Given the description of an element on the screen output the (x, y) to click on. 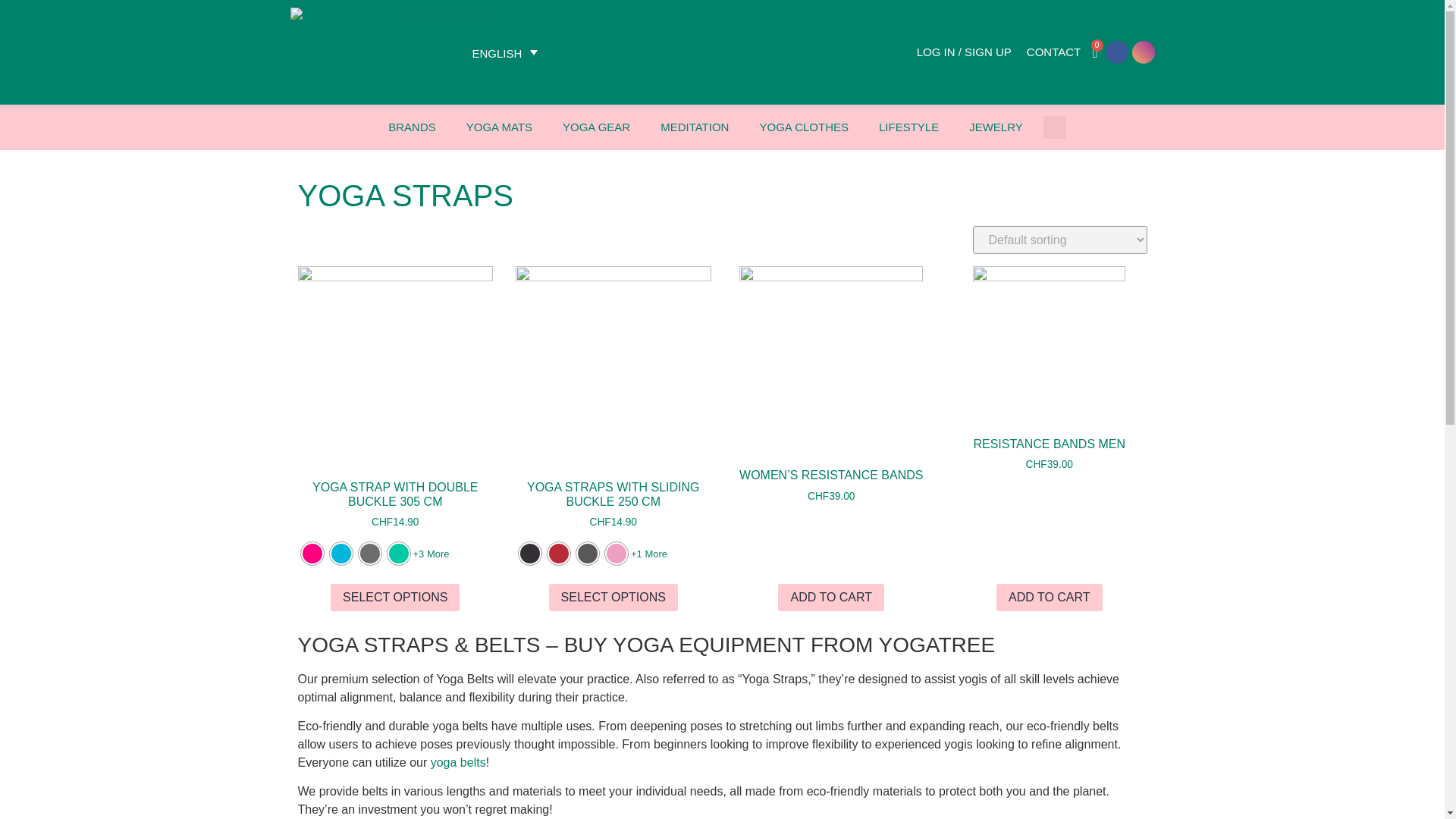
Green (398, 553)
MEDITATION (694, 126)
LIFESTYLE (908, 126)
YOGA MATS (499, 126)
Black (529, 553)
BRANDS (411, 126)
Blue (340, 553)
Grey (369, 553)
YOGA CLOTHES (803, 126)
Fuchsia (311, 553)
